Given the description of an element on the screen output the (x, y) to click on. 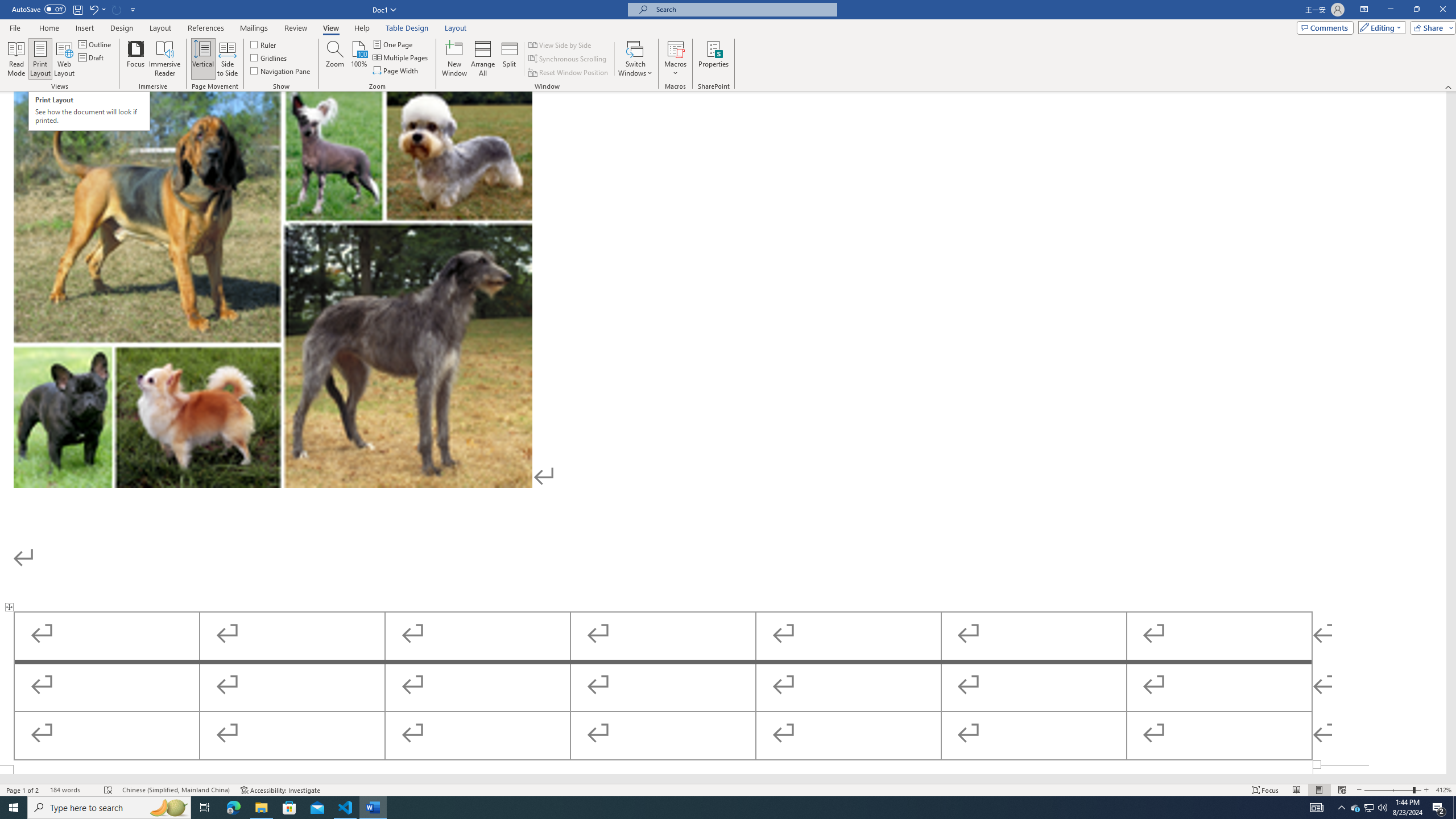
Zoom... (334, 58)
100% (358, 58)
Properties (713, 58)
